Given the description of an element on the screen output the (x, y) to click on. 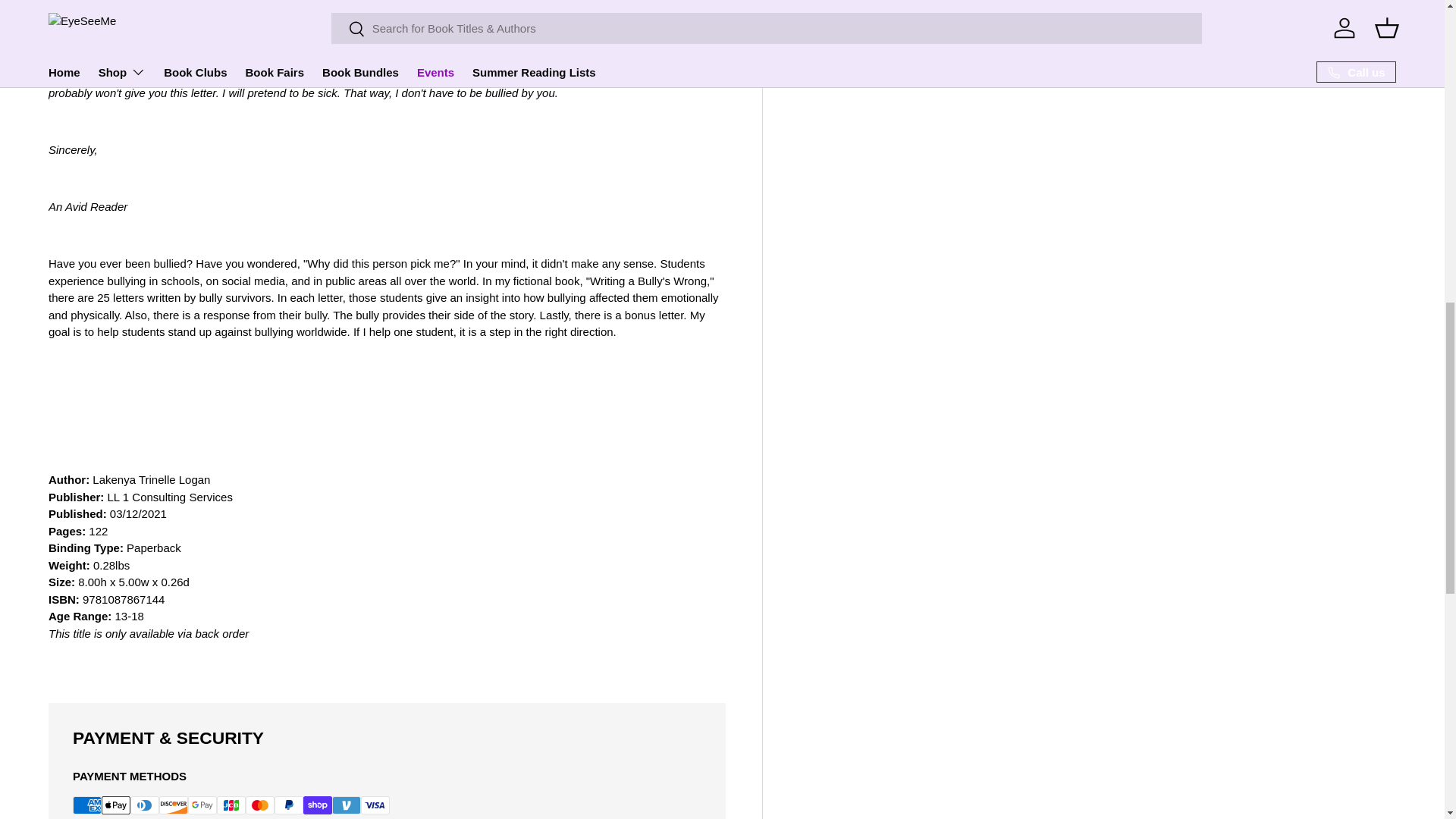
Discover (172, 805)
Google Pay (201, 805)
Apple Pay (116, 805)
JCB (231, 805)
Diners Club (144, 805)
Mastercard (260, 805)
Shop Pay (316, 805)
PayPal (288, 805)
American Express (86, 805)
